Given the description of an element on the screen output the (x, y) to click on. 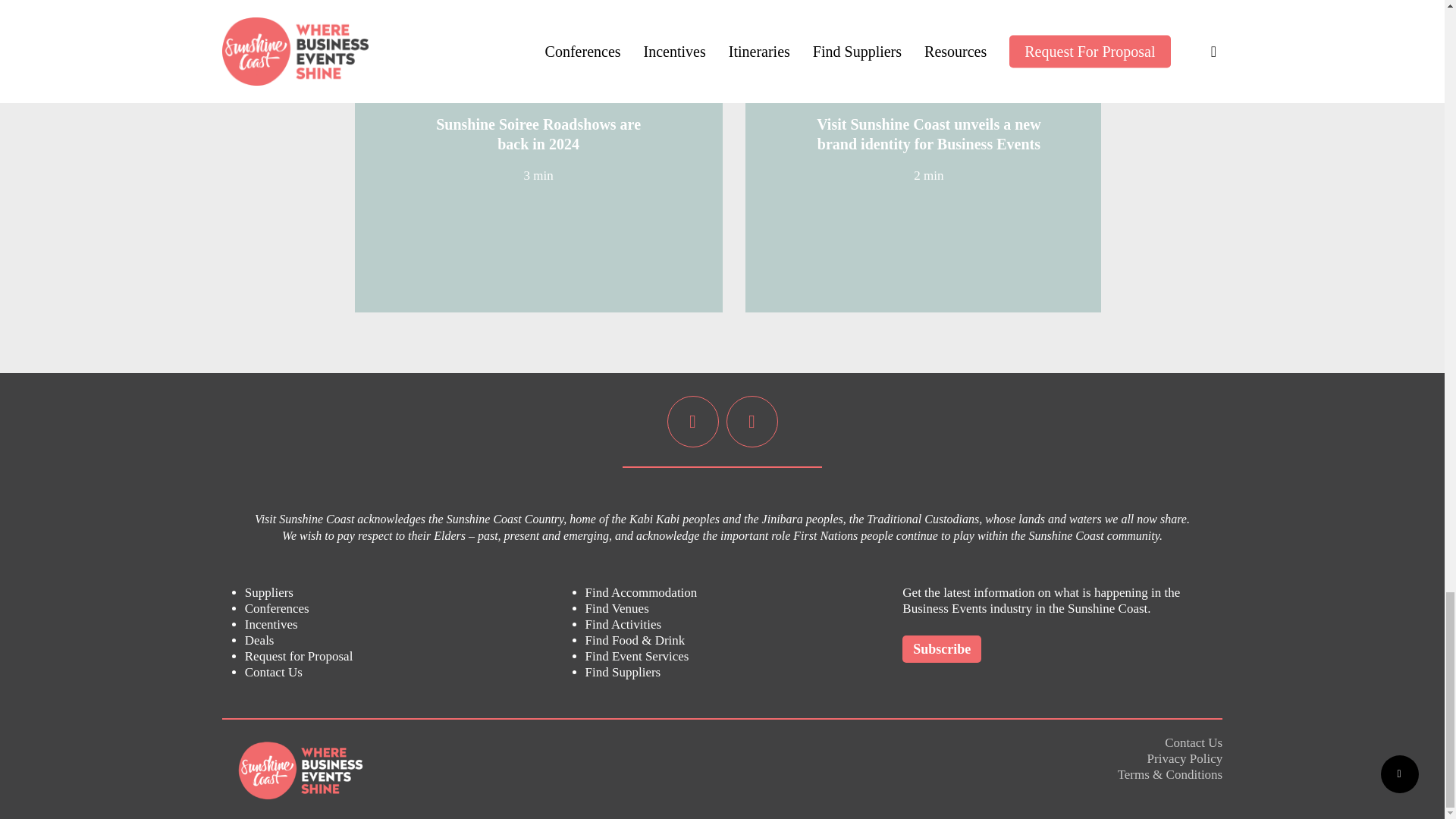
Sunshine Soiree Roadshows are back in 2024 (537, 134)
